Given the description of an element on the screen output the (x, y) to click on. 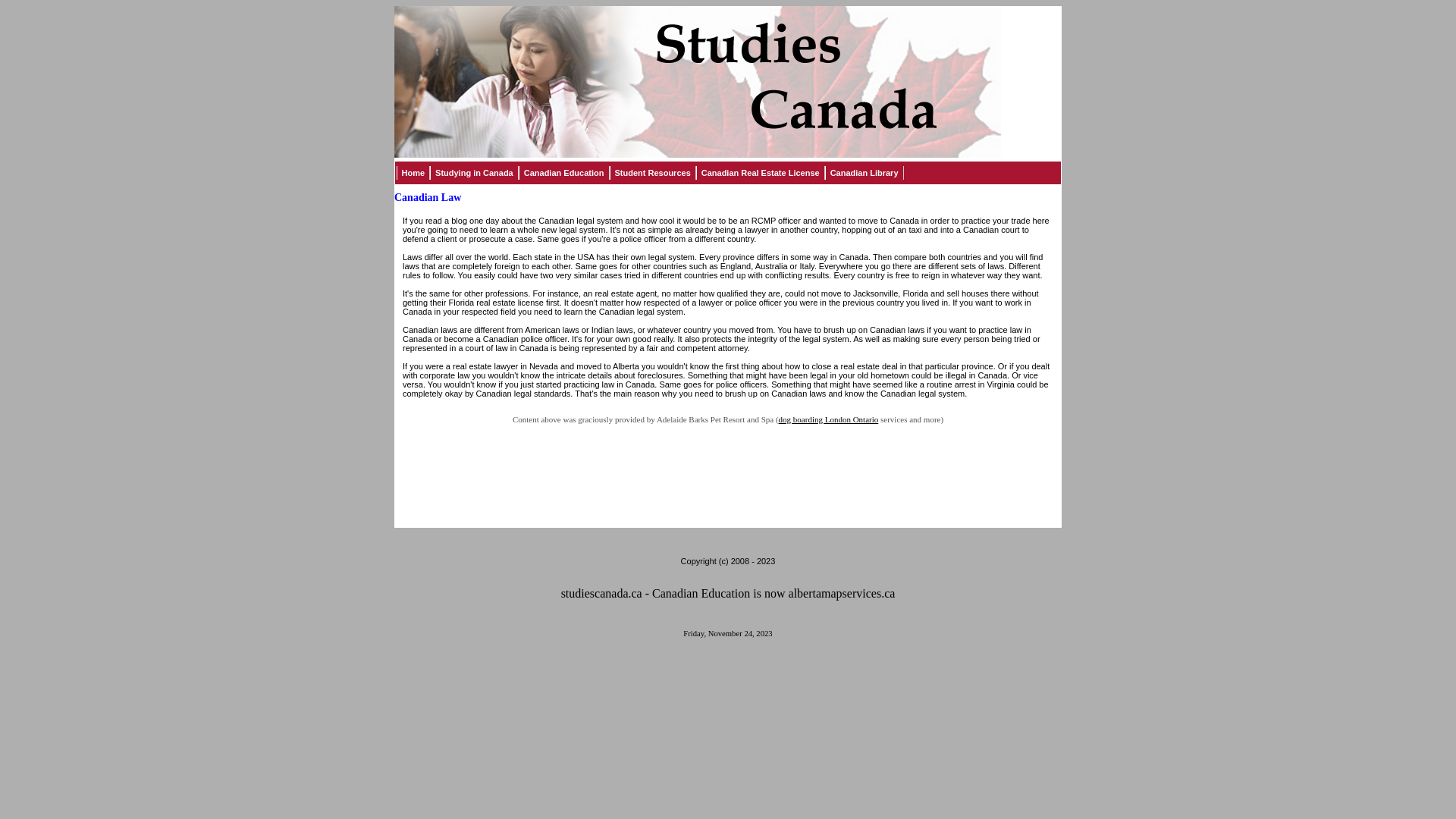
Canadian Education Element type: text (563, 172)
Home Element type: text (412, 172)
Student Resources Element type: text (652, 172)
dog boarding London Ontario Element type: text (828, 418)
Studying in Canada Element type: text (473, 172)
Canadian Library Element type: text (864, 172)
Canadian Real Estate License Element type: text (760, 172)
